Given the description of an element on the screen output the (x, y) to click on. 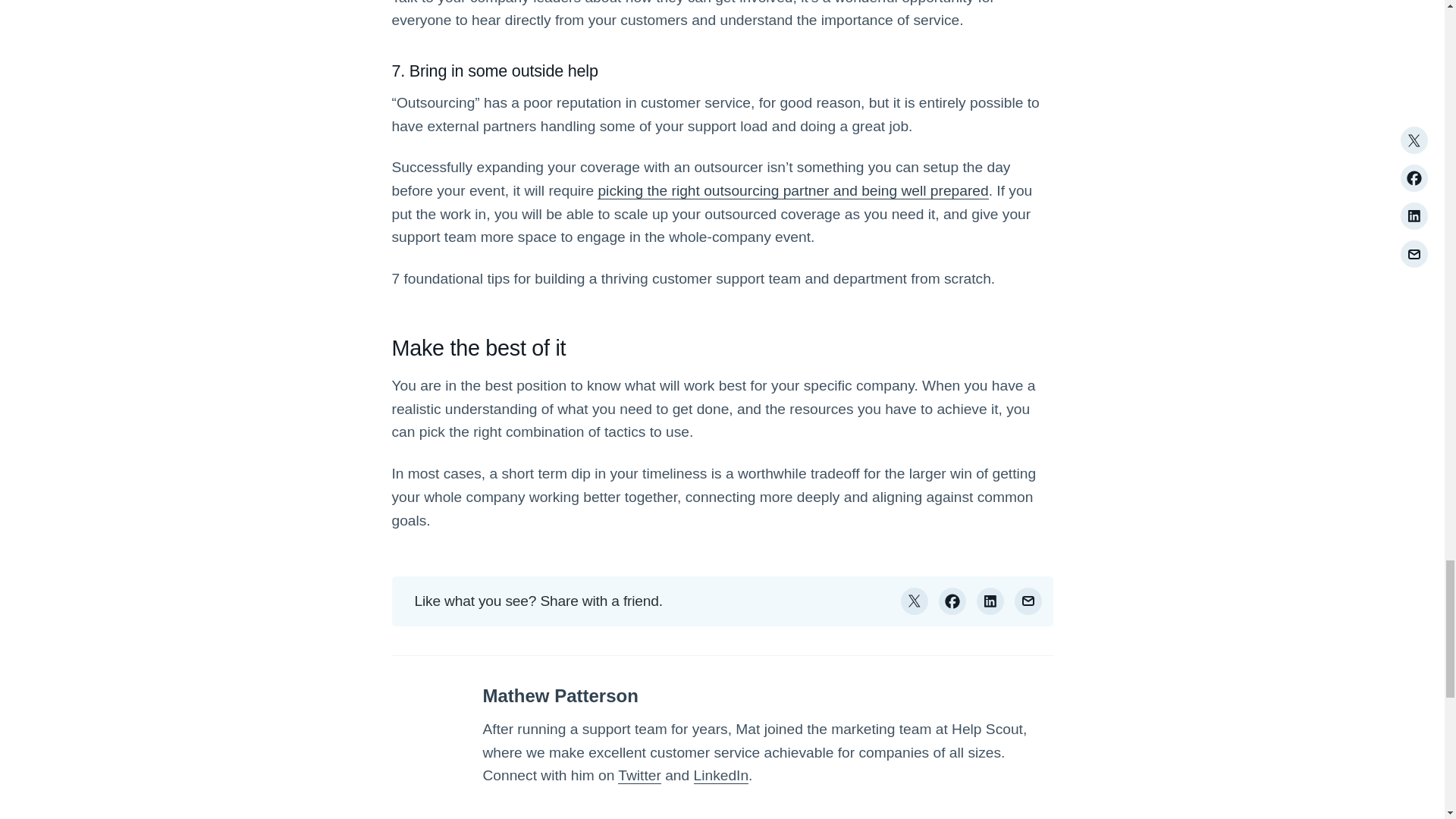
Share via Email (1028, 601)
Share on Facebook (952, 601)
Share on Twitter (914, 601)
Share on LinkedIn (990, 601)
